Given the description of an element on the screen output the (x, y) to click on. 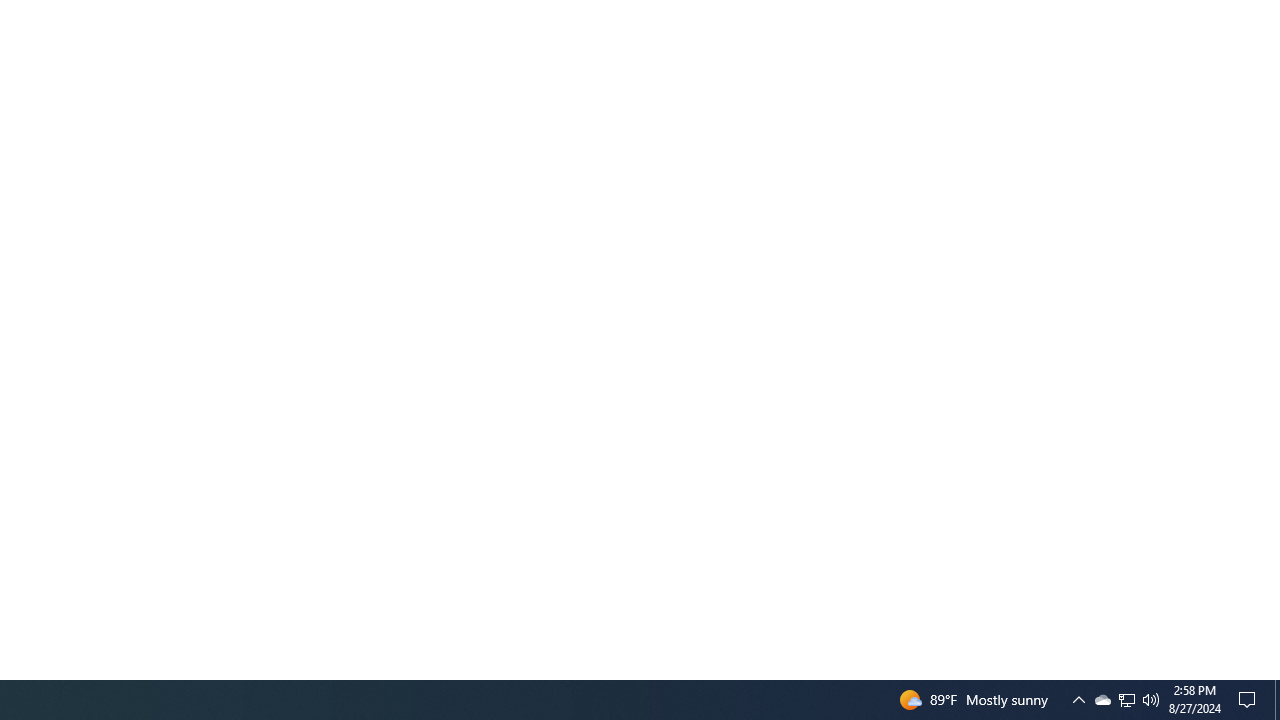
User Promoted Notification Area (1126, 699)
Show desktop (1126, 699)
Action Center, No new notifications (1102, 699)
Notification Chevron (1277, 699)
Q2790: 100% (1250, 699)
